Given the description of an element on the screen output the (x, y) to click on. 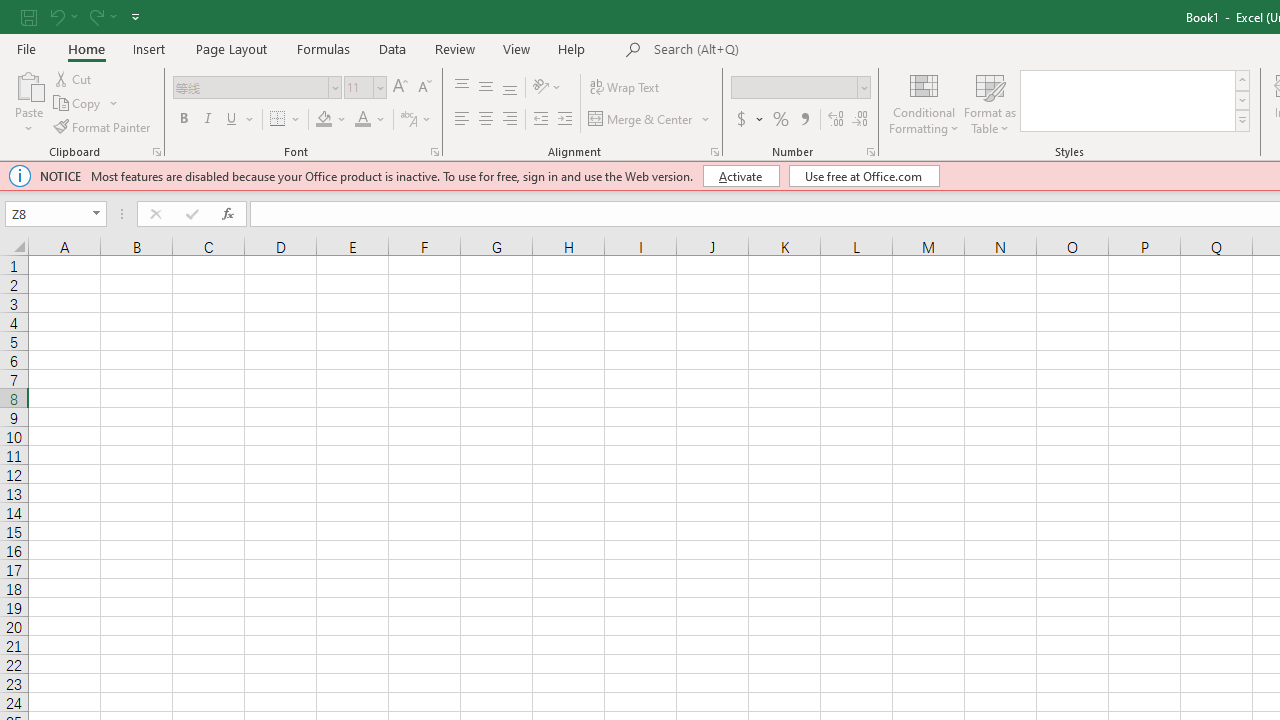
Copy (85, 103)
Bottom Align (509, 87)
Font Size (365, 87)
Merge & Center (649, 119)
Borders (285, 119)
Cell Styles (1242, 120)
Center (485, 119)
Cut (73, 78)
